Given the description of an element on the screen output the (x, y) to click on. 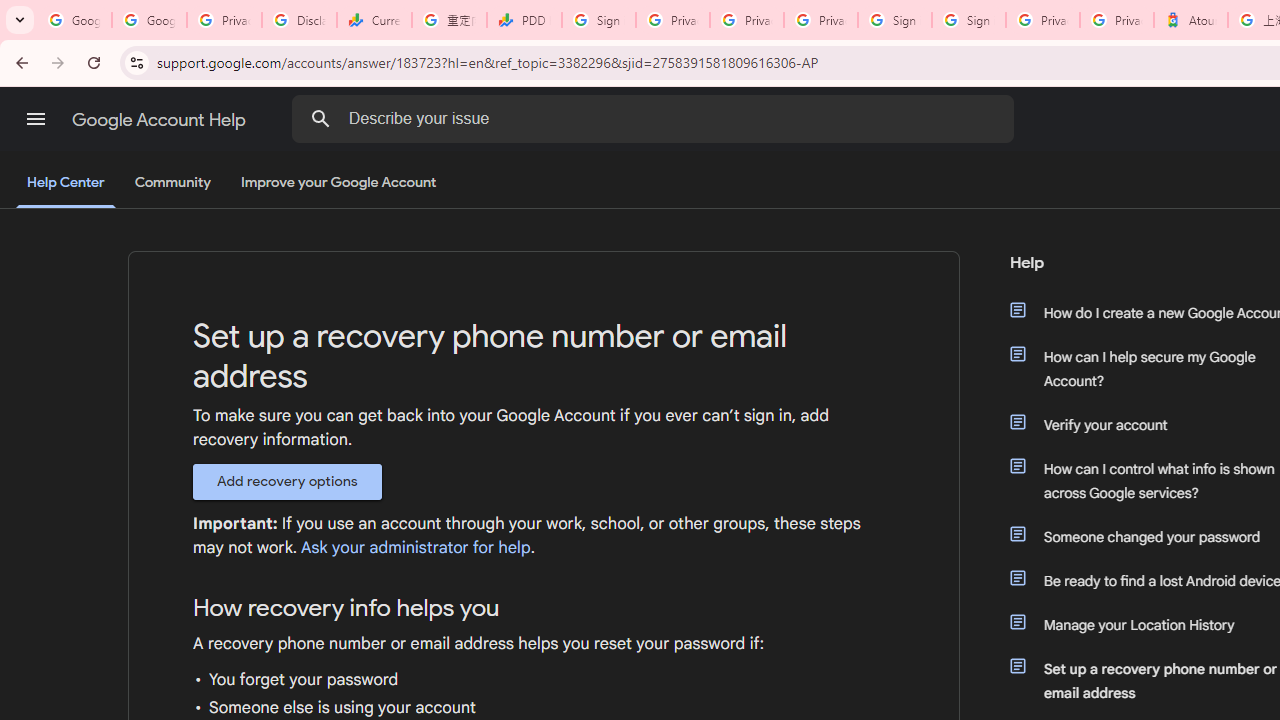
Atour Hotel - Google hotels (1190, 20)
Help Center (65, 183)
Sign in - Google Accounts (968, 20)
Privacy Checkup (747, 20)
PDD Holdings Inc - ADR (PDD) Price & News - Google Finance (523, 20)
Improve your Google Account (339, 183)
Google Workspace Admin Community (74, 20)
Search Help Center (320, 118)
Community (171, 183)
